Given the description of an element on the screen output the (x, y) to click on. 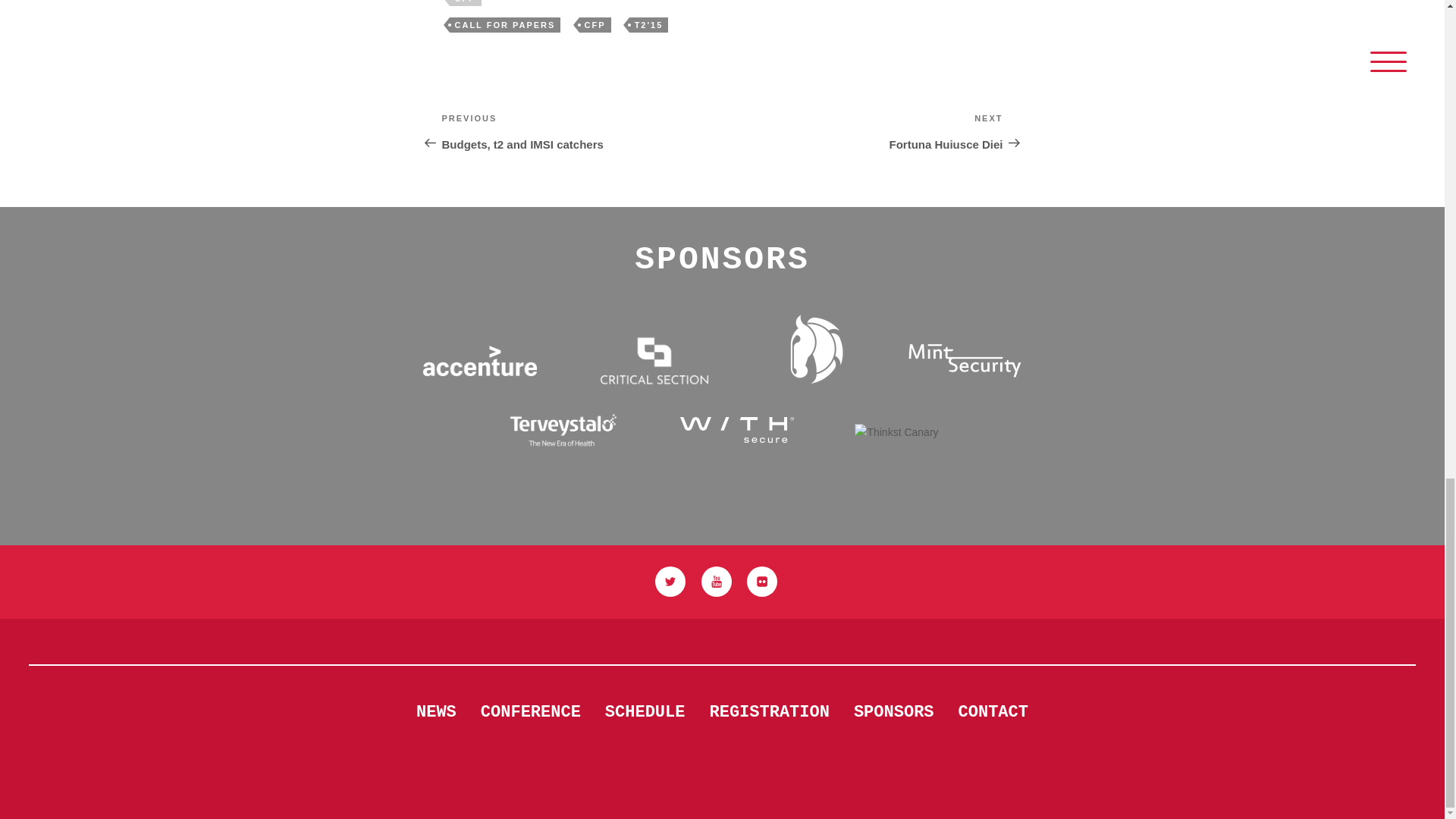
NEWS (436, 712)
Youtube (715, 581)
CFP (862, 130)
T2'15 (595, 24)
CONFERENCE (648, 24)
CALL FOR PAPERS (530, 712)
CFP (504, 24)
Flickr (464, 2)
Twitter (761, 581)
SCHEDULE (670, 581)
CONTACT (644, 712)
SPONSORS (993, 712)
REGISTRATION (581, 130)
